Given the description of an element on the screen output the (x, y) to click on. 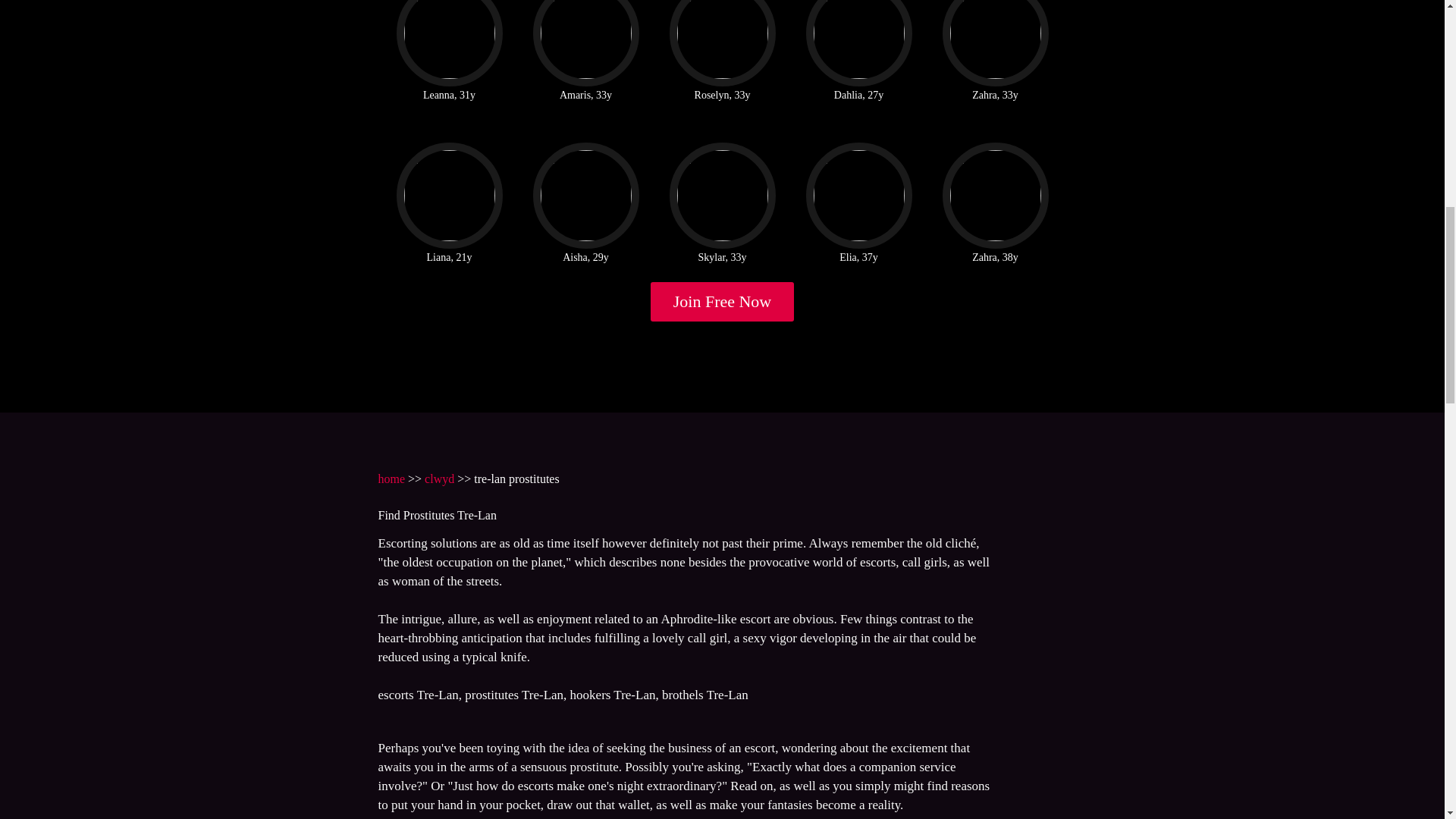
home (390, 478)
Join (722, 301)
clwyd (439, 478)
Join Free Now (722, 301)
